Given the description of an element on the screen output the (x, y) to click on. 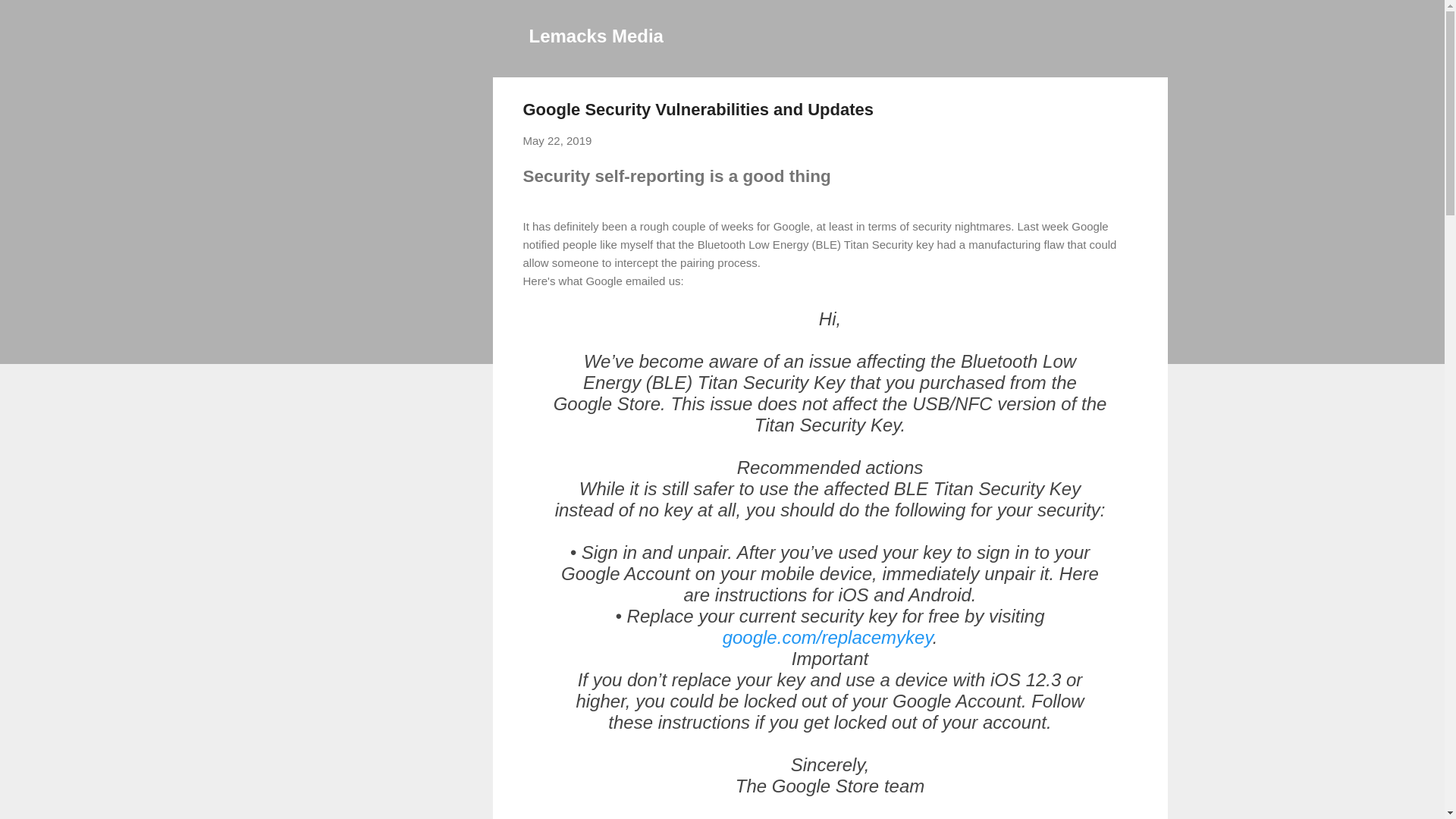
Lemacks Media (596, 35)
Search (29, 18)
May 22, 2019 (557, 140)
permanent link (557, 140)
